Given the description of an element on the screen output the (x, y) to click on. 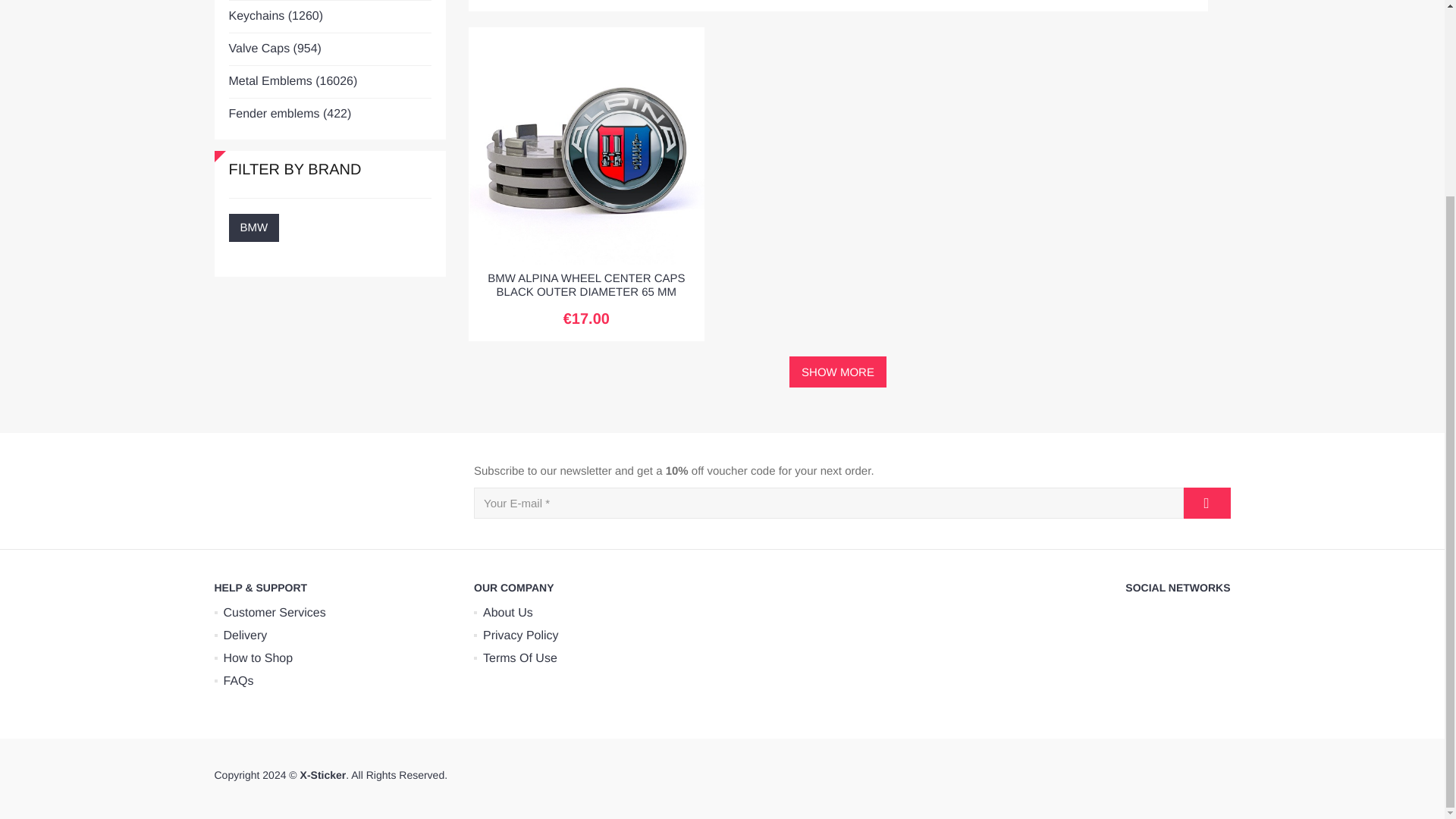
Fender emblems (325, 114)
Metal Emblems (325, 81)
Keychains (325, 16)
Valve Caps (325, 49)
SHOW MORE (837, 371)
BMW Alpina Wheel Center Caps Black Outer Diameter 65 mm (587, 145)
BMW (253, 227)
BMW ALPINA WHEEL CENTER CAPS BLACK OUTER DIAMETER 65 MM (585, 284)
